Given the description of an element on the screen output the (x, y) to click on. 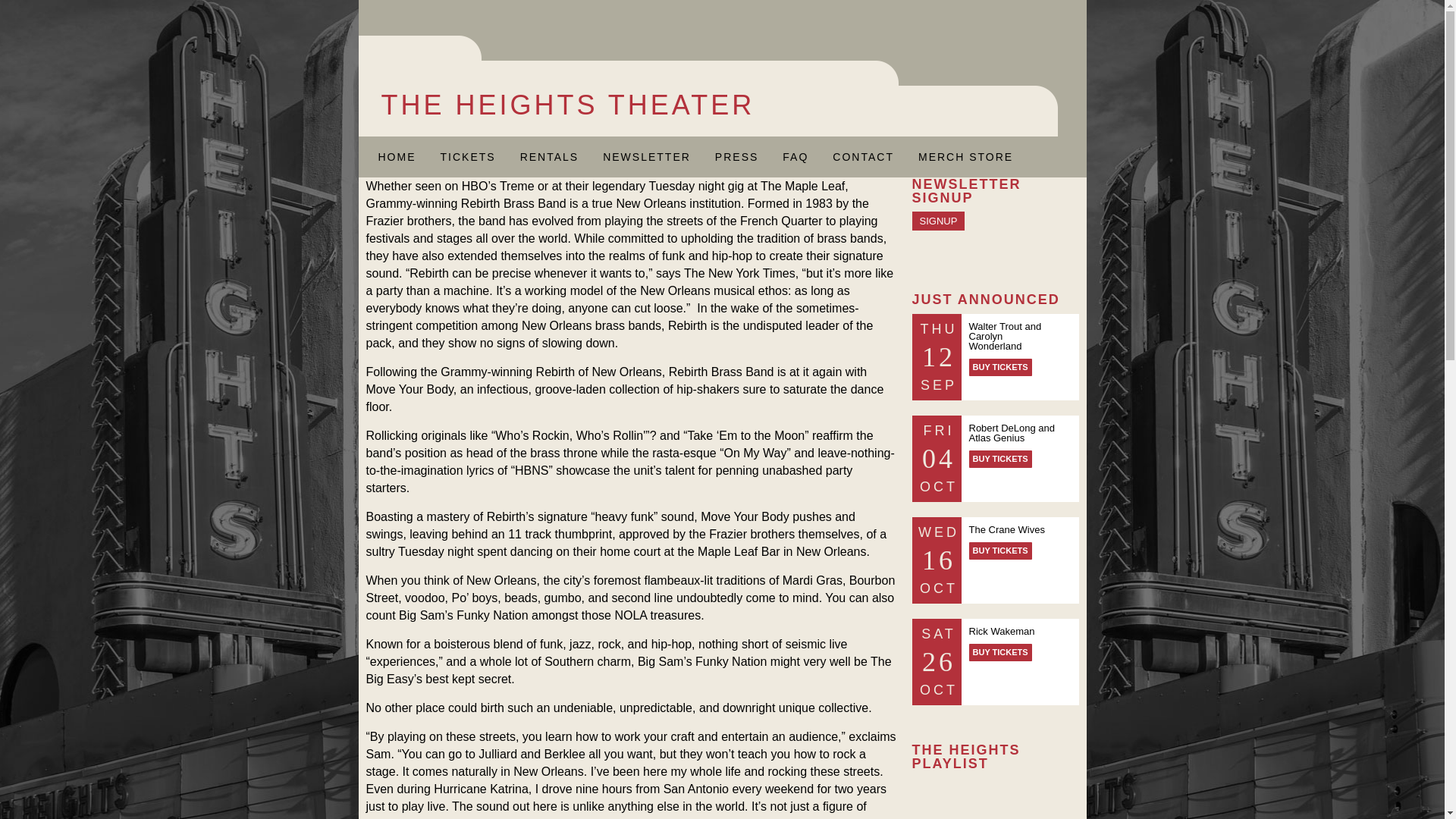
NEWSLETTER (647, 156)
PRESS (736, 156)
BUY TICKETS (1000, 550)
BUY TICKETS (1000, 458)
CONTACT (863, 156)
MERCH STORE (965, 156)
HOME (396, 156)
SIGNUP (937, 220)
FAQ (795, 156)
RENTALS (549, 156)
BUY TICKETS (1000, 651)
TICKETS (467, 156)
BUY TICKETS (1000, 366)
